Given the description of an element on the screen output the (x, y) to click on. 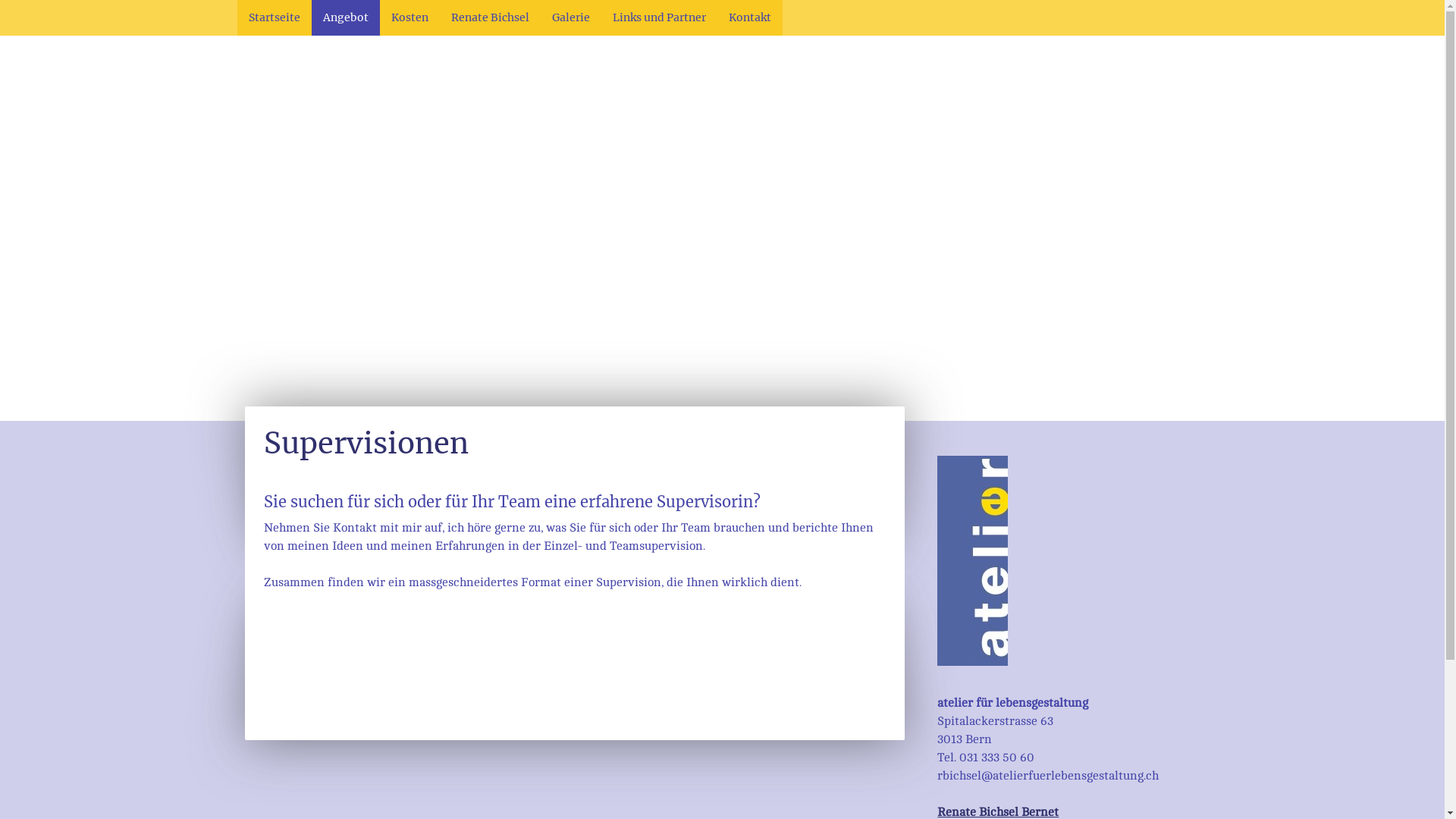
Renate Bichsel Element type: text (489, 17)
Startseite Element type: text (273, 17)
Angebot Element type: text (344, 17)
Kontakt Element type: text (749, 17)
Kosten Element type: text (409, 17)
Links und Partner Element type: text (658, 17)
Galerie Element type: text (569, 17)
